Given the description of an element on the screen output the (x, y) to click on. 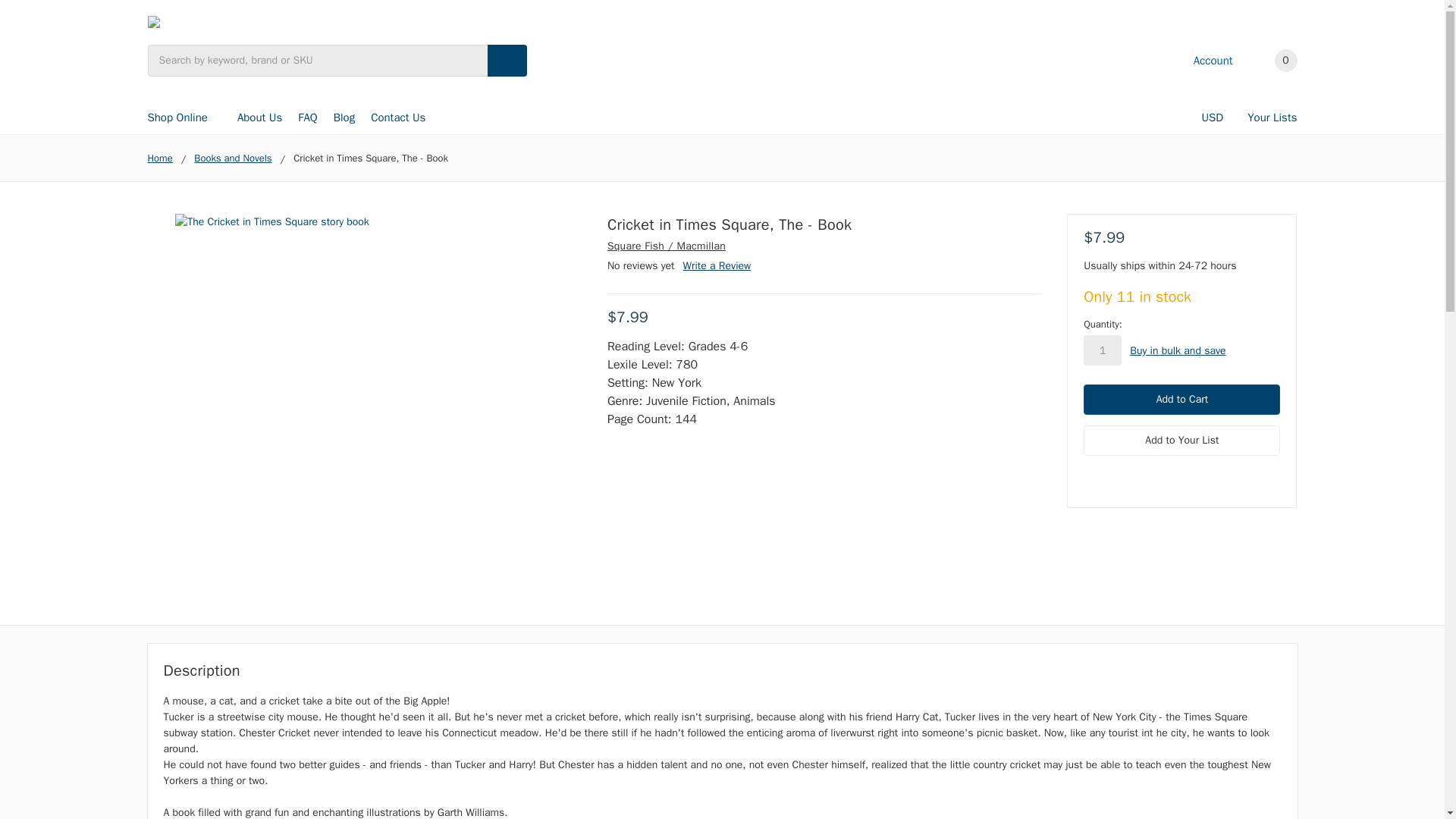
Add to Cart (1181, 399)
Email (1117, 473)
1 (1102, 349)
Twitter (1171, 473)
Account (1203, 60)
Shop Online (184, 117)
Print (1145, 473)
Pinterest (1198, 473)
0 (1273, 60)
Facebook (1091, 473)
Progeny Press (152, 21)
